Given the description of an element on the screen output the (x, y) to click on. 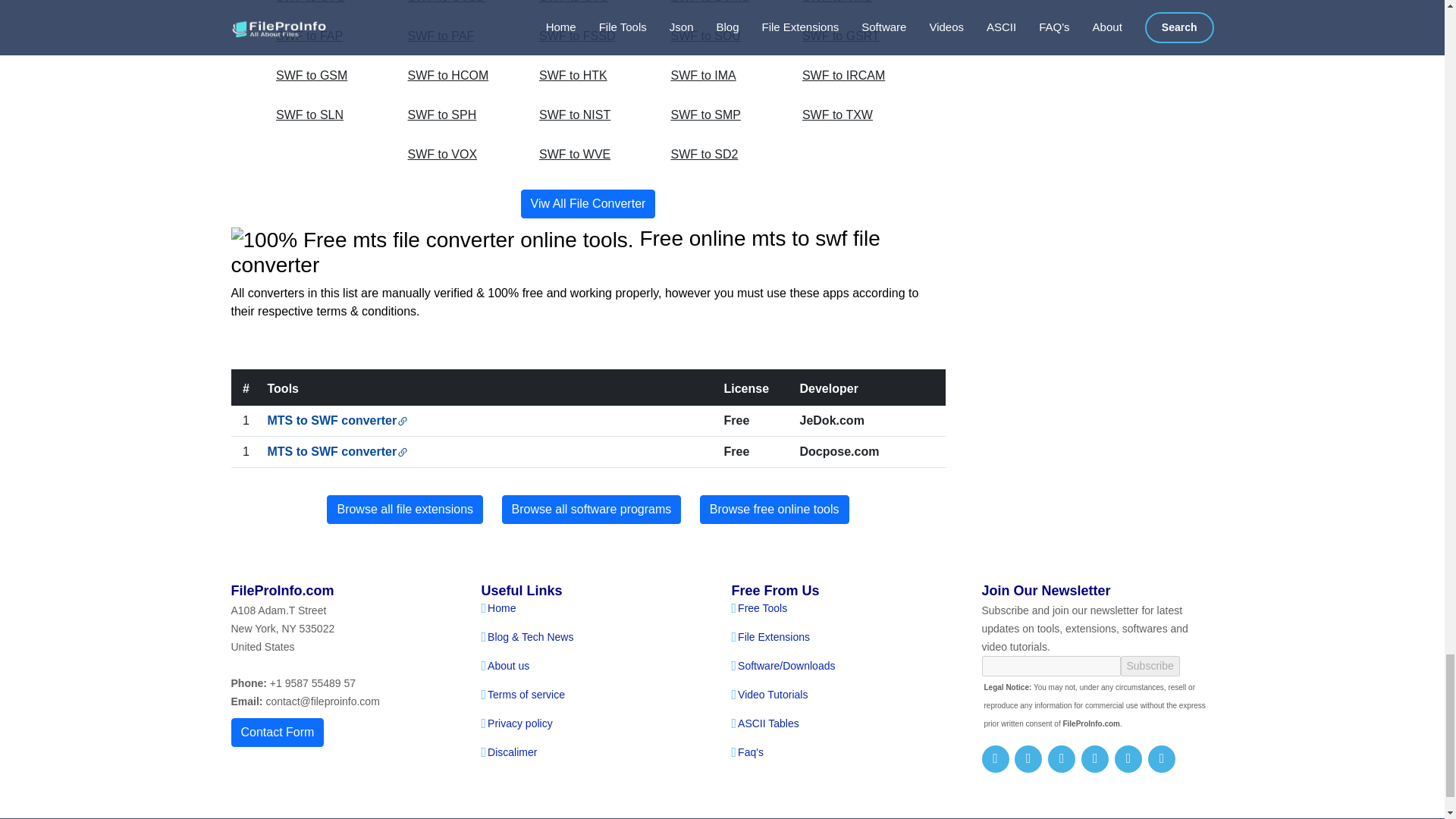
Subscribe (1150, 666)
